Given the description of an element on the screen output the (x, y) to click on. 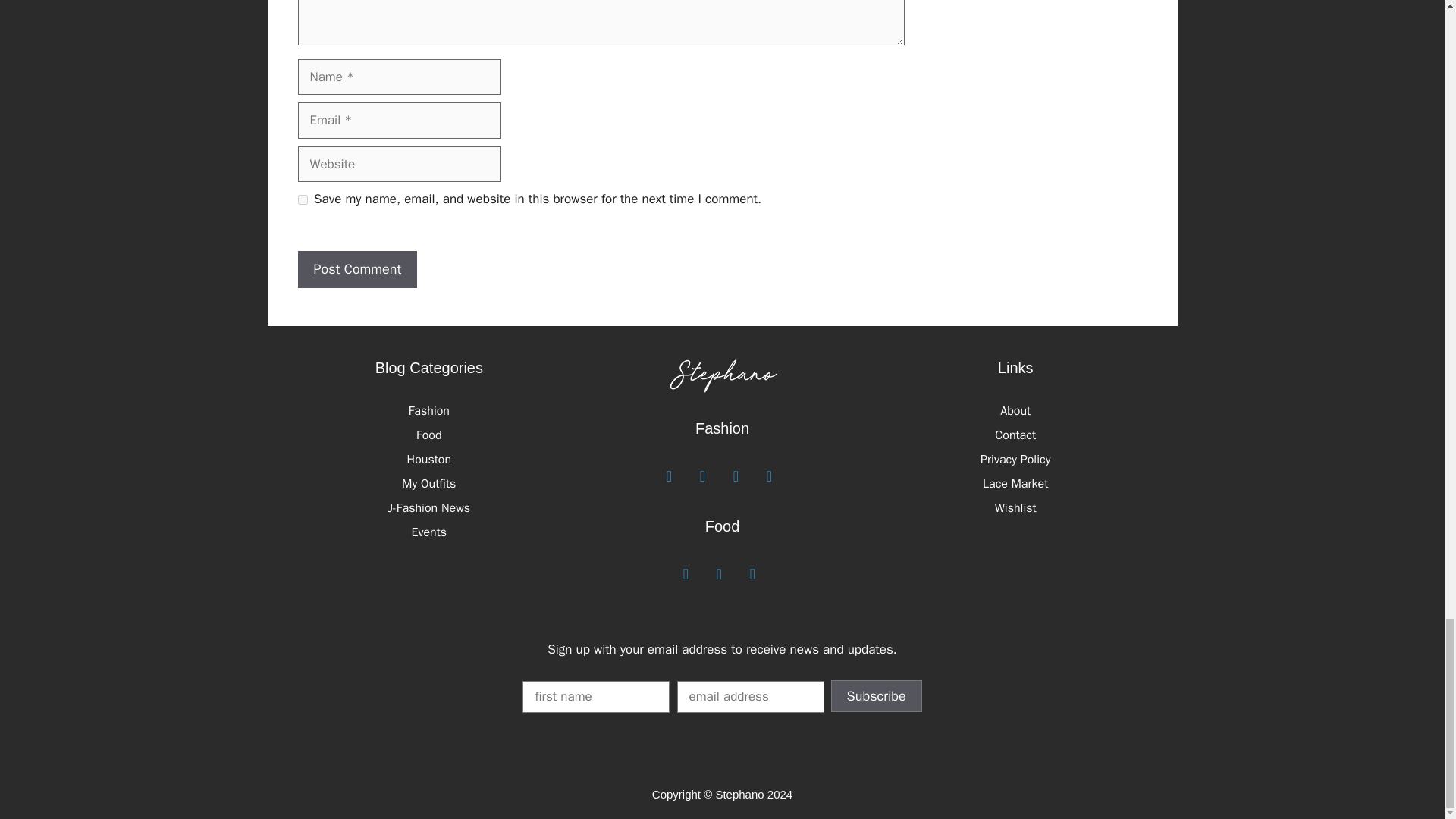
Post Comment (356, 269)
yes (302, 199)
Subscribe (876, 695)
